Given the description of an element on the screen output the (x, y) to click on. 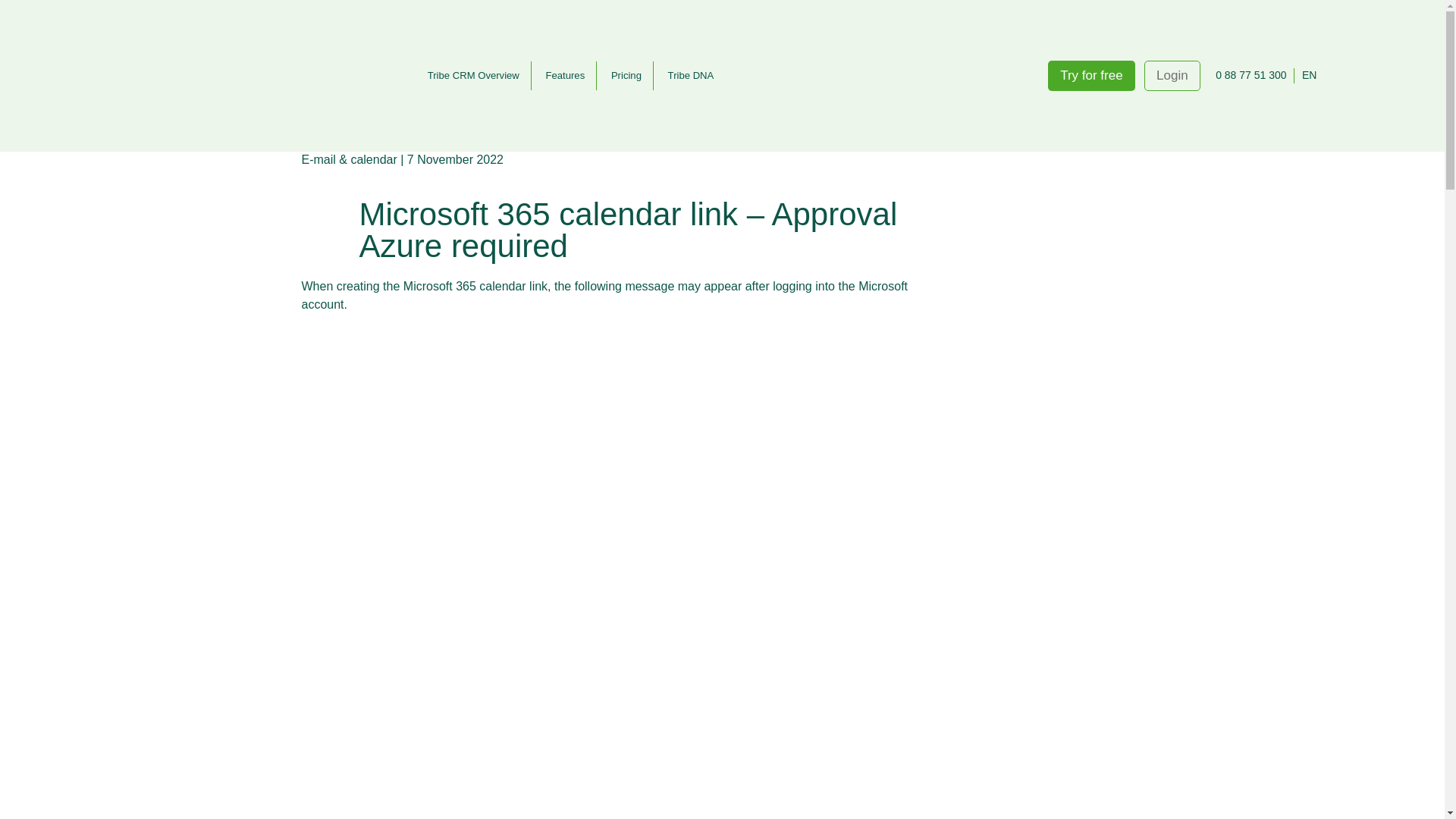
Pricing (625, 75)
Knowledge base (382, 82)
Tribe DNA (690, 75)
Home (315, 82)
Tribe CRM Overview (473, 75)
Connectors (461, 82)
0 88 77 51 300 (1250, 75)
Login (1171, 75)
Try for free (1091, 75)
Features (564, 75)
